Given the description of an element on the screen output the (x, y) to click on. 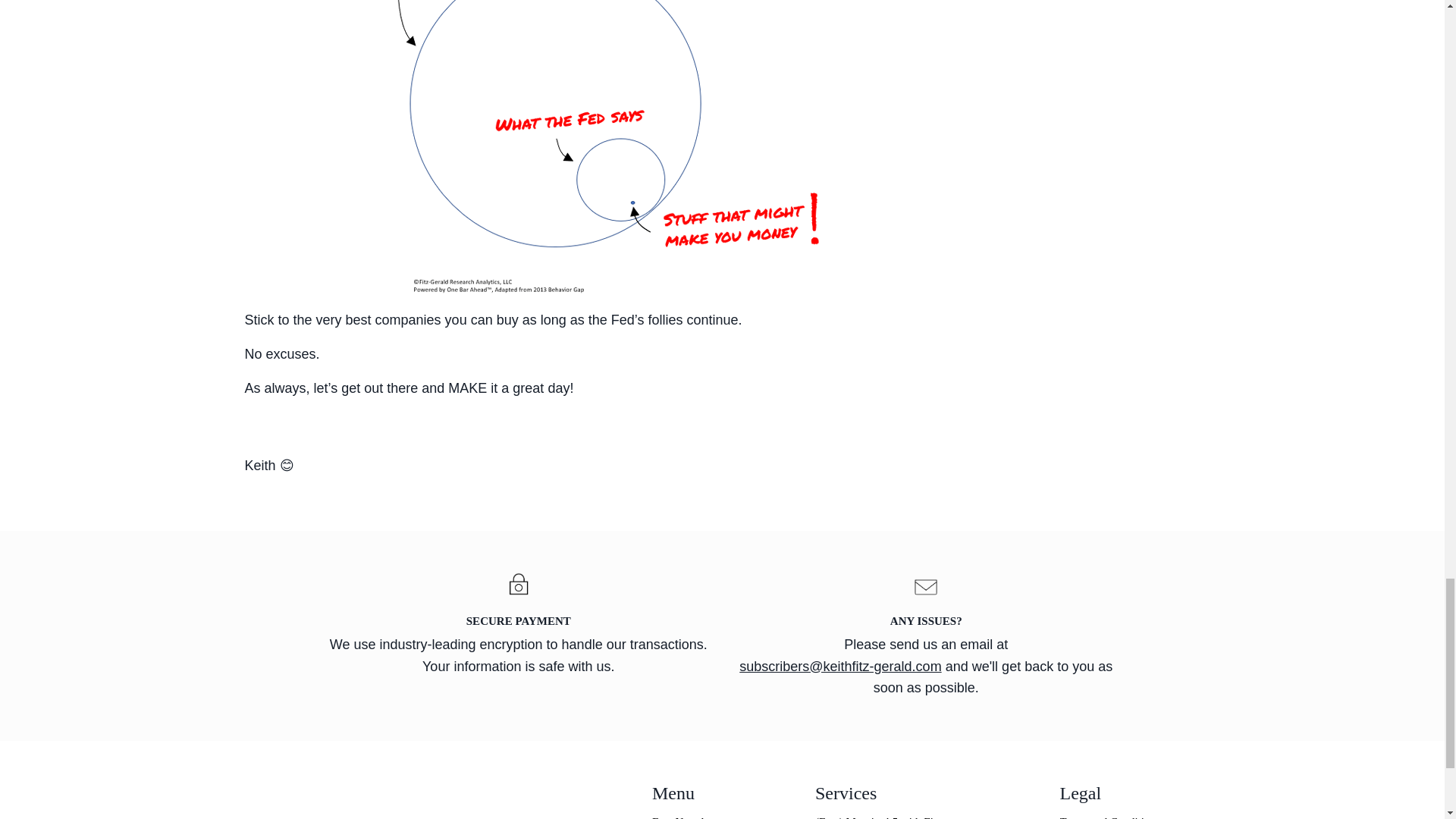
Free Newsletter (714, 814)
Terms and Conditions (1122, 814)
